Given the description of an element on the screen output the (x, y) to click on. 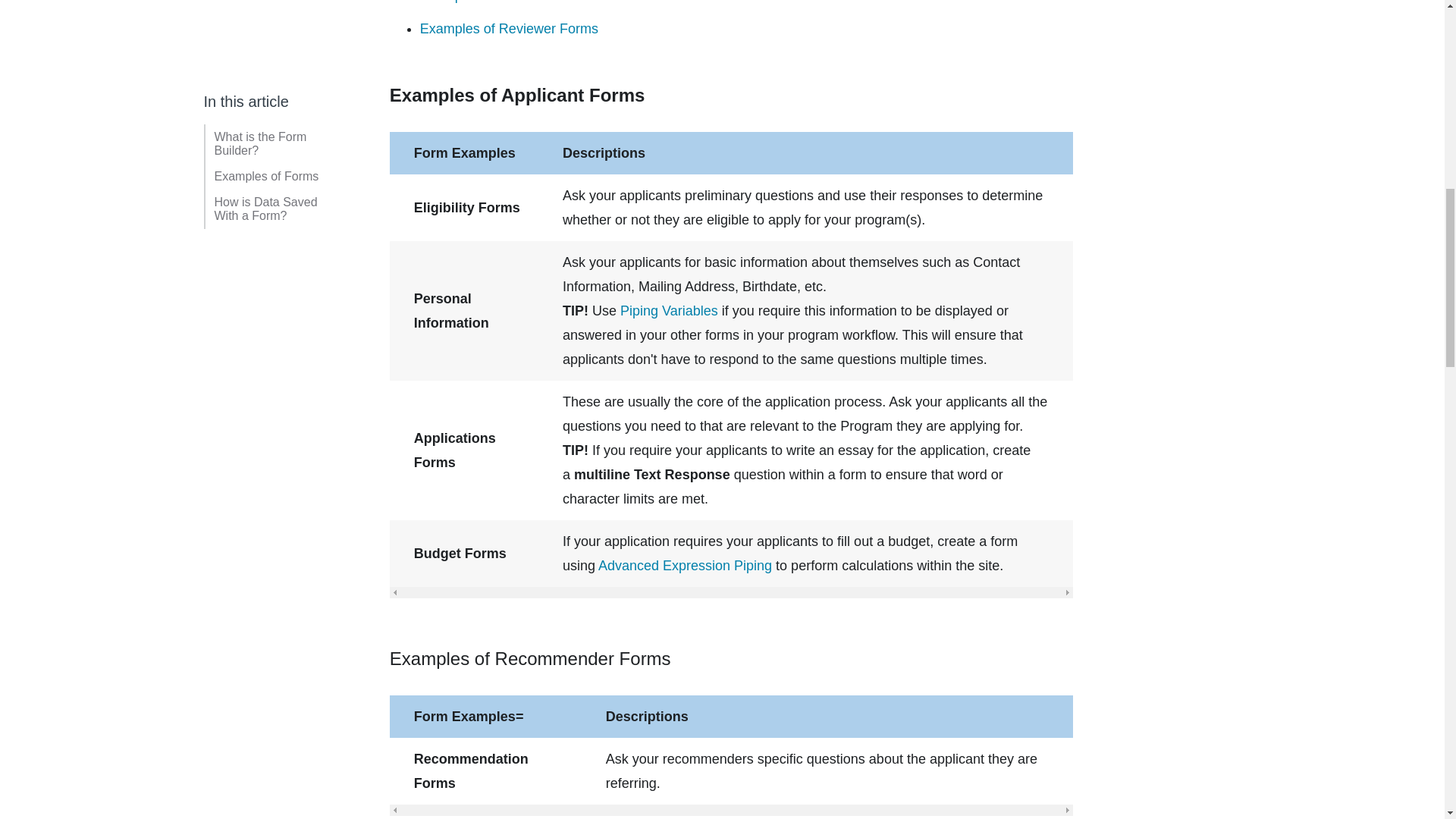
Piping Variables (668, 310)
Advanced Expression Piping (684, 565)
Examples of Reviewer Forms (509, 28)
Examples of Recommender Forms (525, 1)
